Given the description of an element on the screen output the (x, y) to click on. 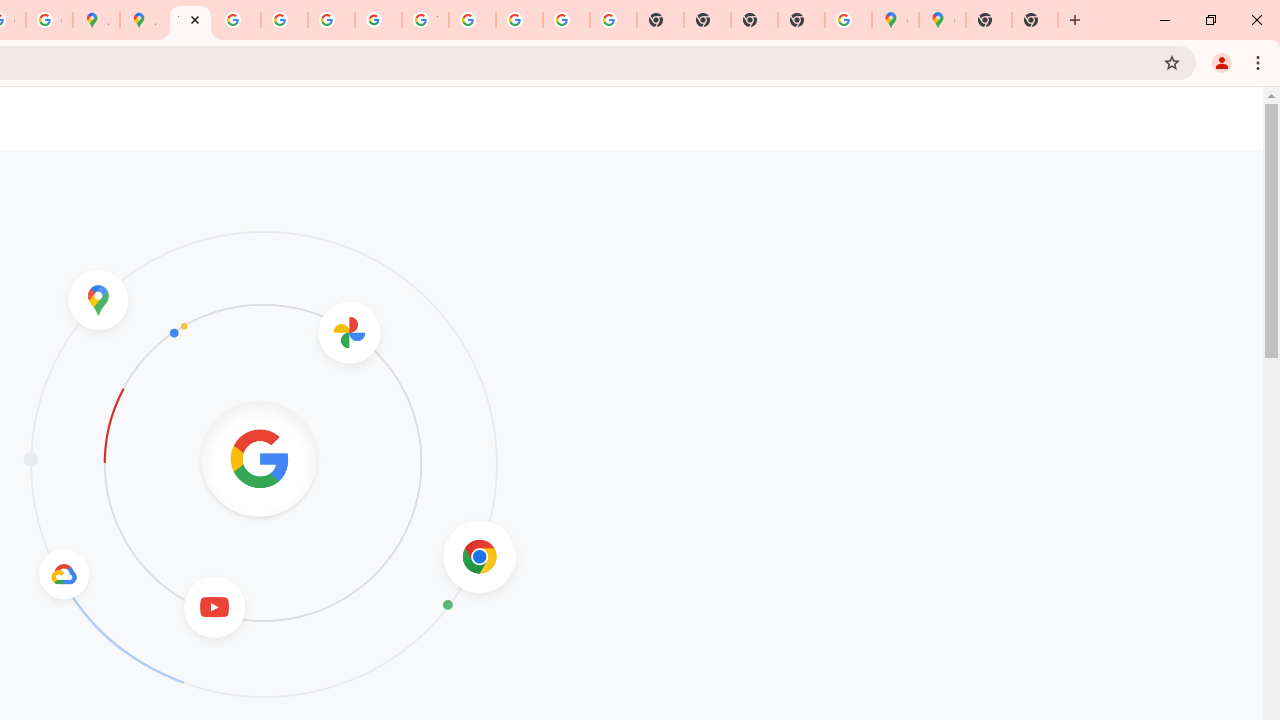
Google Maps (895, 20)
New Tab (1035, 20)
New Tab (801, 20)
Browse Chrome as a guest - Computer - Google Chrome Help (472, 20)
Use Google Maps in Space - Google Maps Help (848, 20)
Privacy Help Center - Policies Help (237, 20)
YouTube (425, 20)
